Given the description of an element on the screen output the (x, y) to click on. 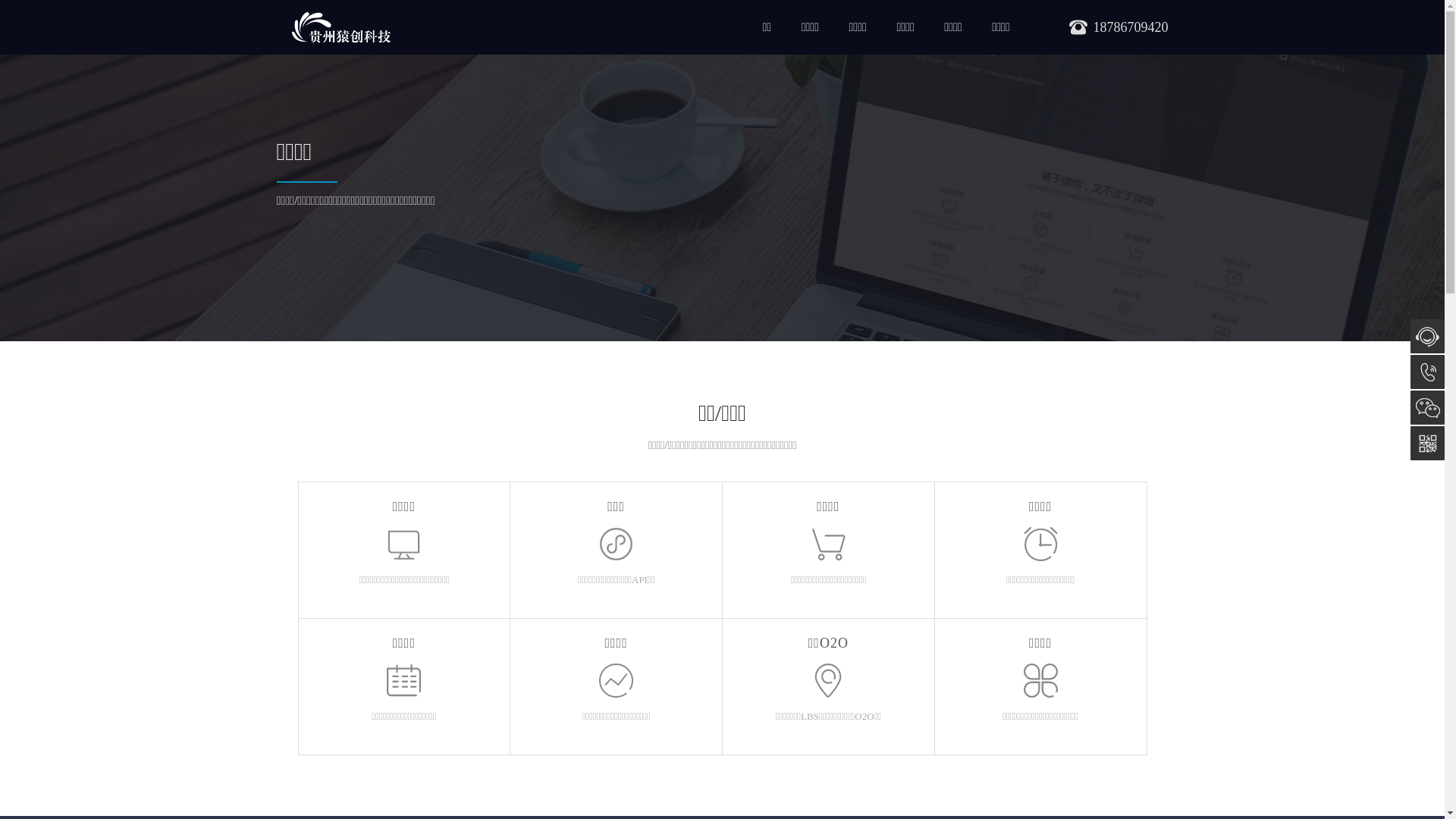
18786709420 Element type: text (1427, 371)
